Given the description of an element on the screen output the (x, y) to click on. 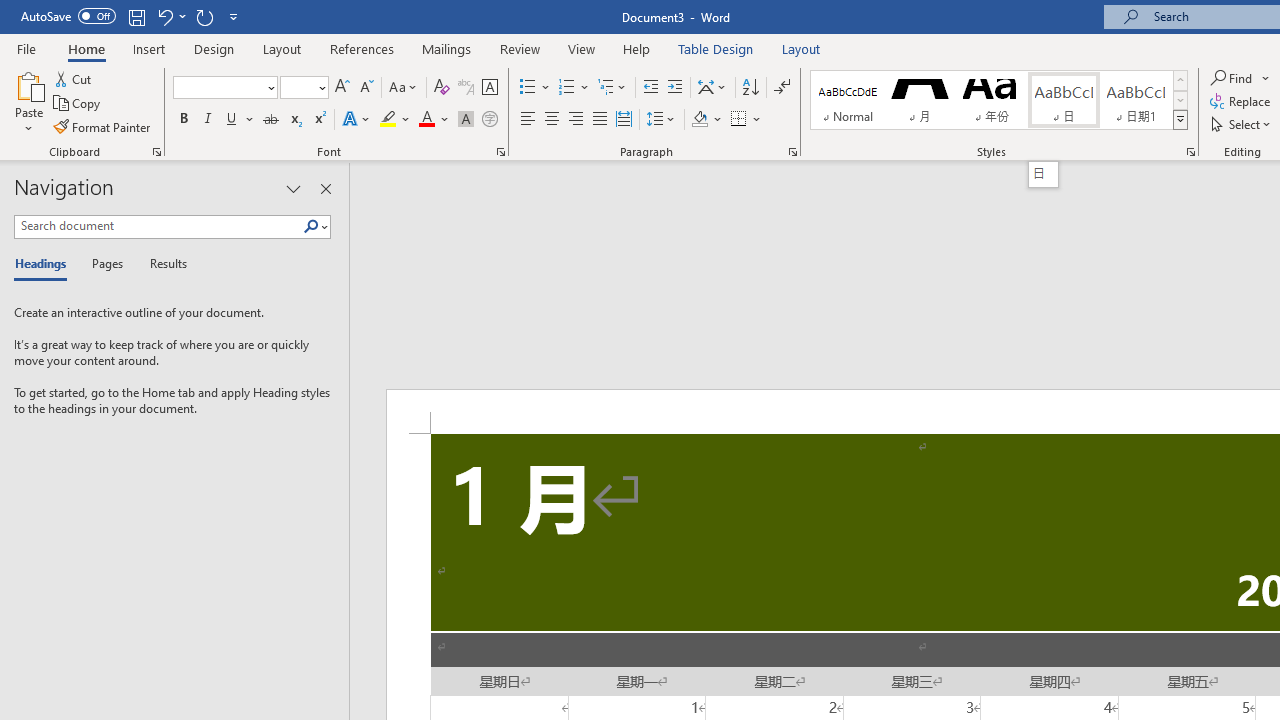
Show/Hide Editing Marks (781, 87)
Distributed (623, 119)
Shading (706, 119)
Replace... (1242, 101)
Pages (105, 264)
Help (637, 48)
Borders (739, 119)
Quick Access Toolbar (131, 16)
Save (136, 15)
